Given the description of an element on the screen output the (x, y) to click on. 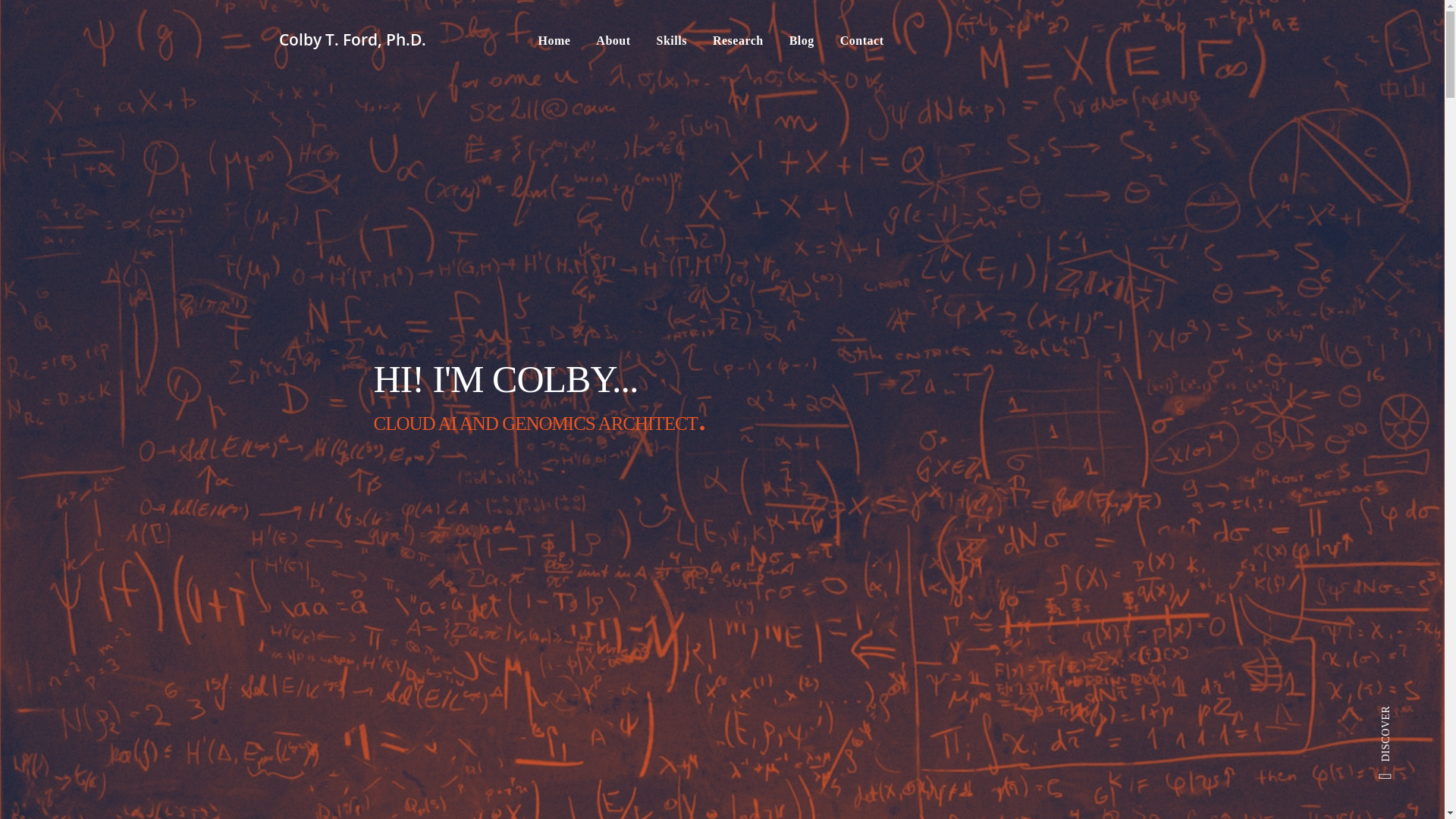
Skills (671, 40)
Home (553, 40)
Research (737, 40)
About (612, 40)
Contact (861, 40)
DISCOVER (1403, 714)
